Given the description of an element on the screen output the (x, y) to click on. 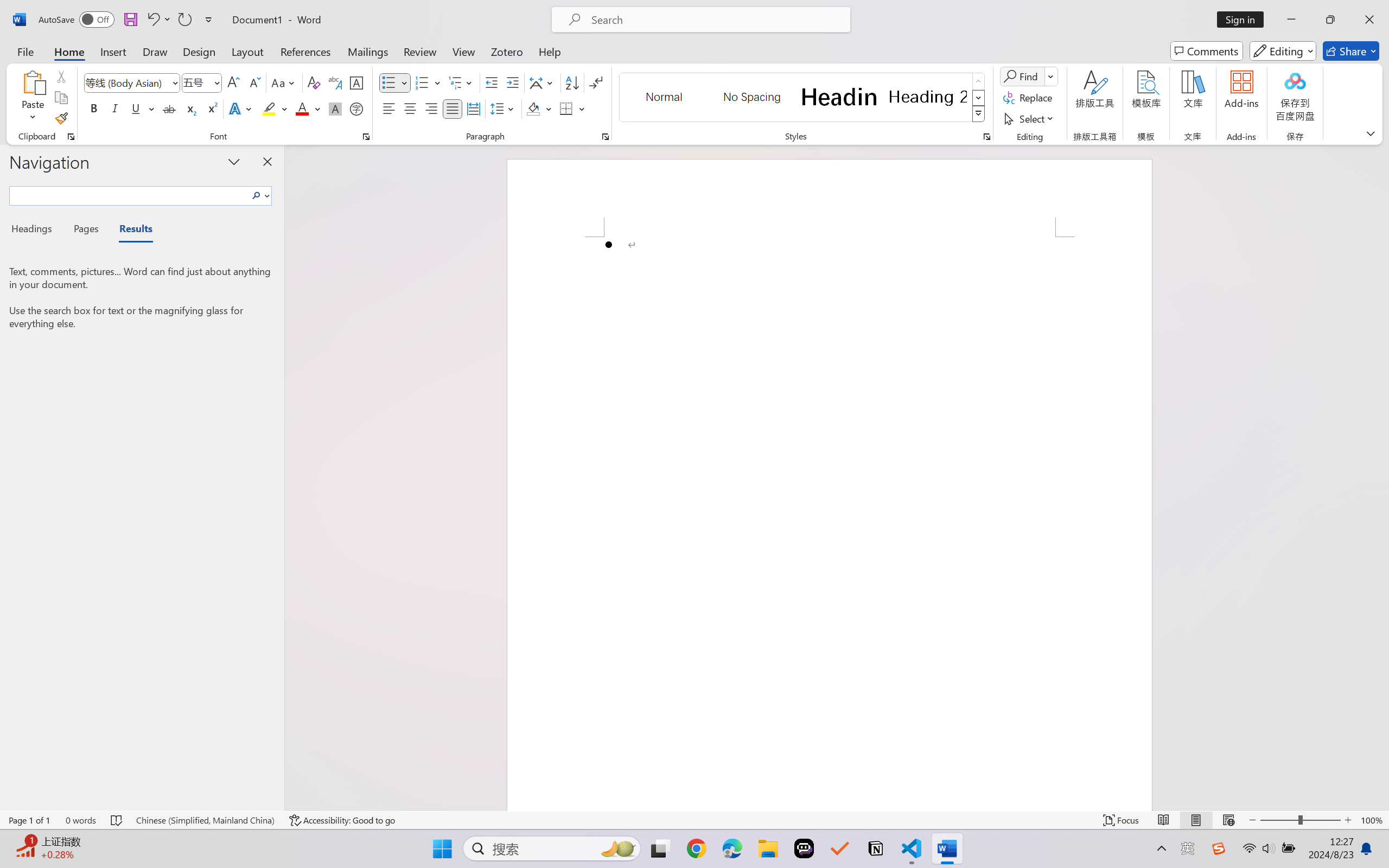
Search document (128, 193)
Zoom 100% (1372, 819)
